Given the description of an element on the screen output the (x, y) to click on. 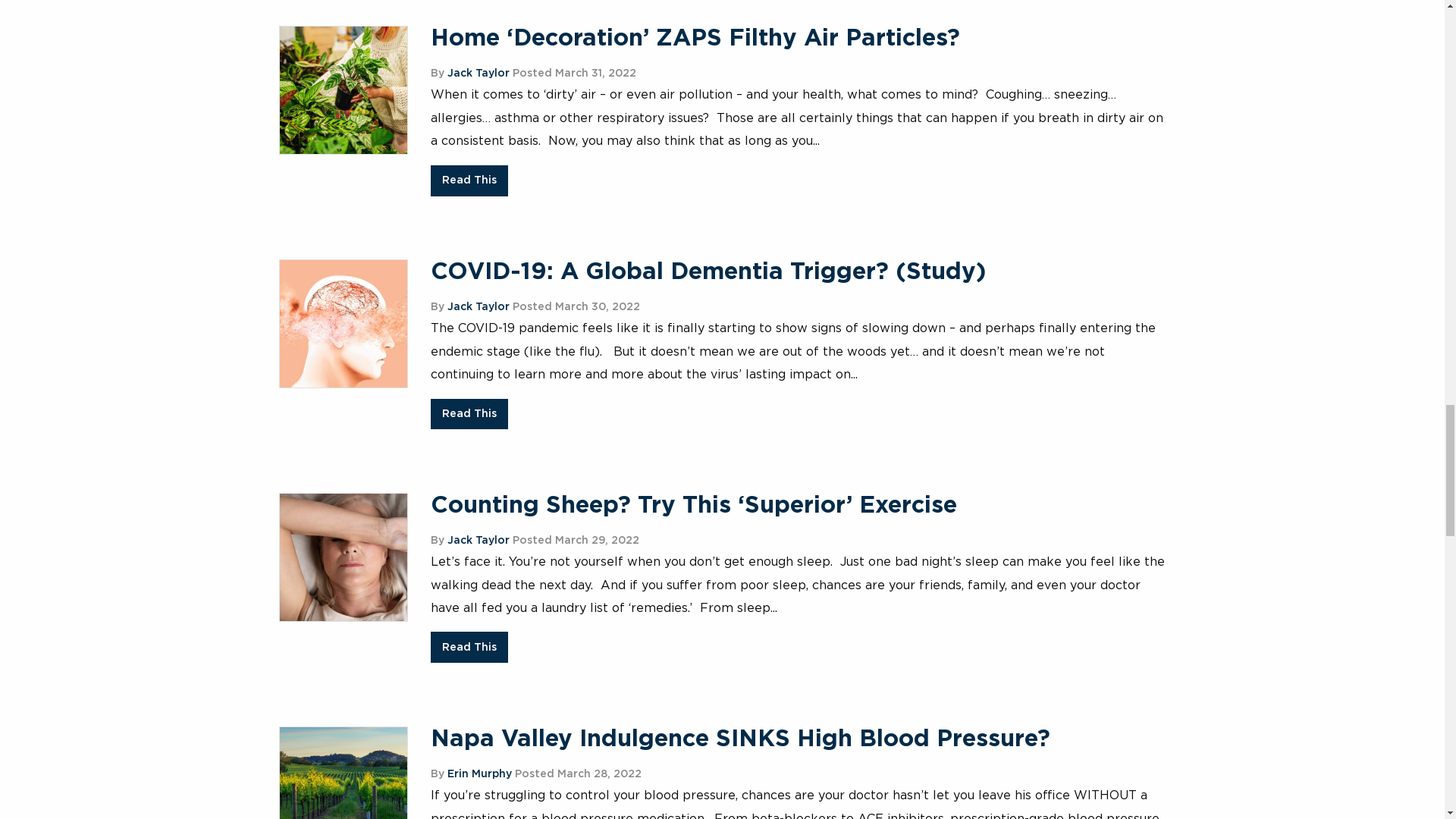
Napa Valley Indulgence SINKS High Blood Pressure? (739, 739)
Jack Taylor (477, 72)
Read This (469, 413)
Erin Murphy (479, 774)
Read This (469, 646)
Read This (469, 180)
Jack Taylor (477, 540)
Jack Taylor (477, 307)
